Given the description of an element on the screen output the (x, y) to click on. 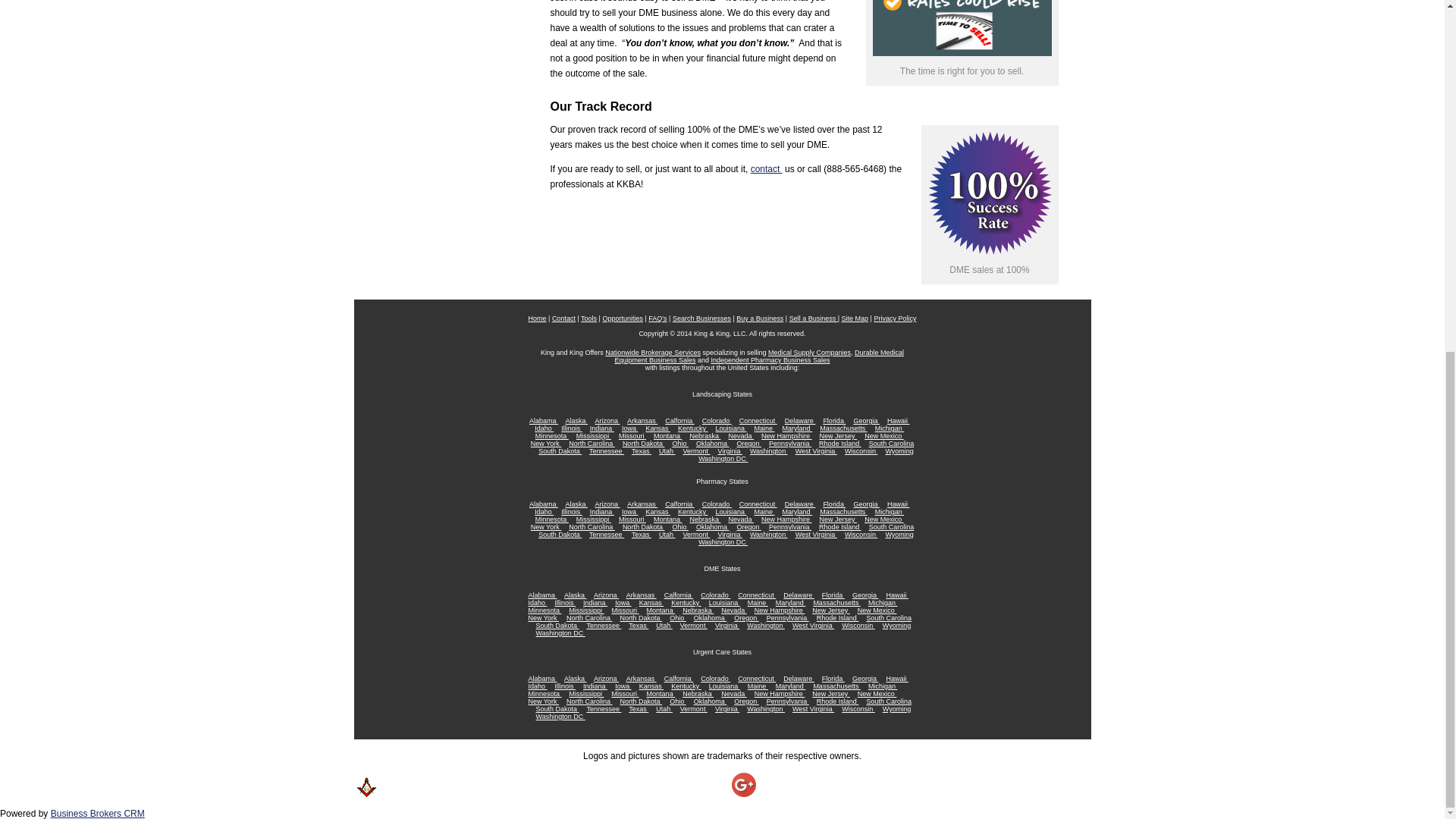
Contact KKBA for Business Brokerage Services in Hawaii (767, 168)
Sell or Purchase a Business Today! (701, 318)
Helpful Tools and Forms for Selling or Buying a Business (588, 318)
Privacy Policy for King and King LLC (894, 318)
Buy a Pharmacy, DME, or Other Business (759, 318)
